Given the description of an element on the screen output the (x, y) to click on. 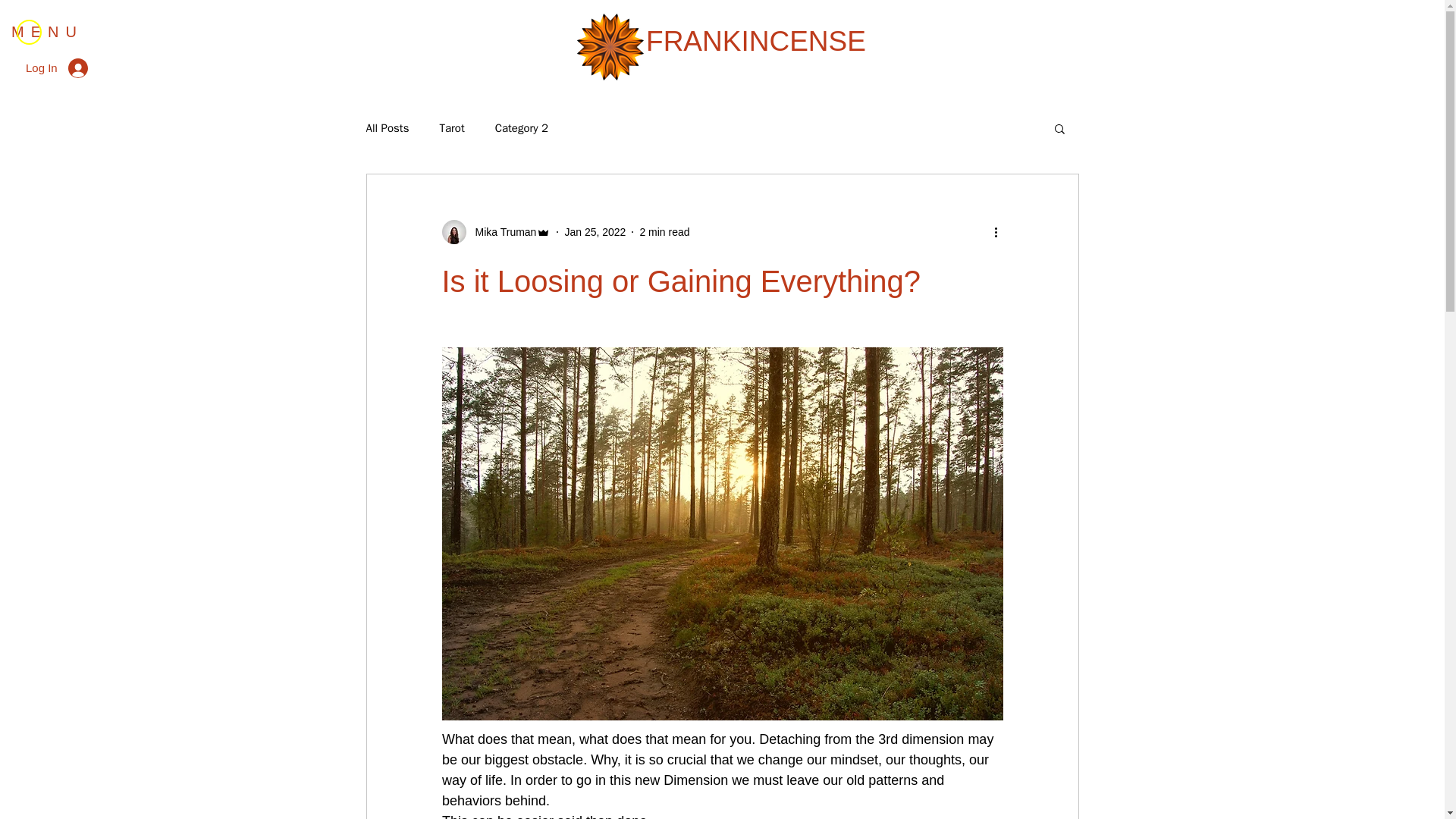
SCHOOL OF MYSTICAL ART (756, 60)
Mika Truman (500, 232)
Log In (56, 67)
FRANKINCENSE (756, 40)
2 min read (663, 232)
Mika Truman (495, 232)
MENU (46, 31)
Tarot (451, 128)
Jan 25, 2022 (595, 232)
Category 2 (521, 128)
All Posts (387, 128)
